Given the description of an element on the screen output the (x, y) to click on. 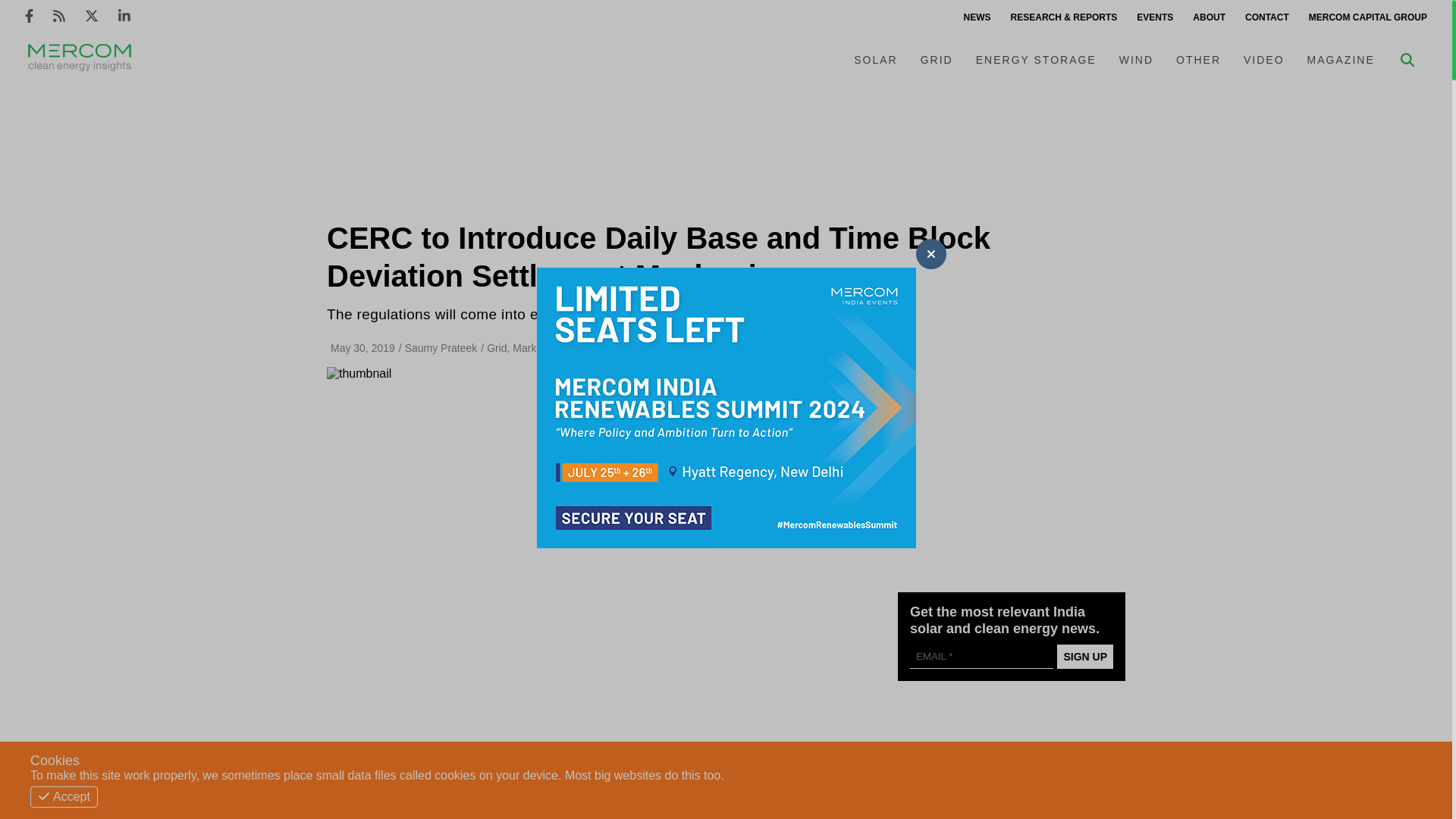
3rd party ad content (726, 146)
ENERGY STORAGE (1035, 59)
ABOUT (1208, 17)
OTHER (1197, 59)
CONTACT (1266, 17)
SOLAR (875, 59)
MERCOM CAPITAL GROUP (1367, 17)
NEWS (977, 17)
VIDEO (1263, 59)
EVENTS (1154, 17)
GRID (935, 59)
WIND (1136, 59)
3rd party ad content (1011, 765)
3rd party ad content (1011, 466)
